Given the description of an element on the screen output the (x, y) to click on. 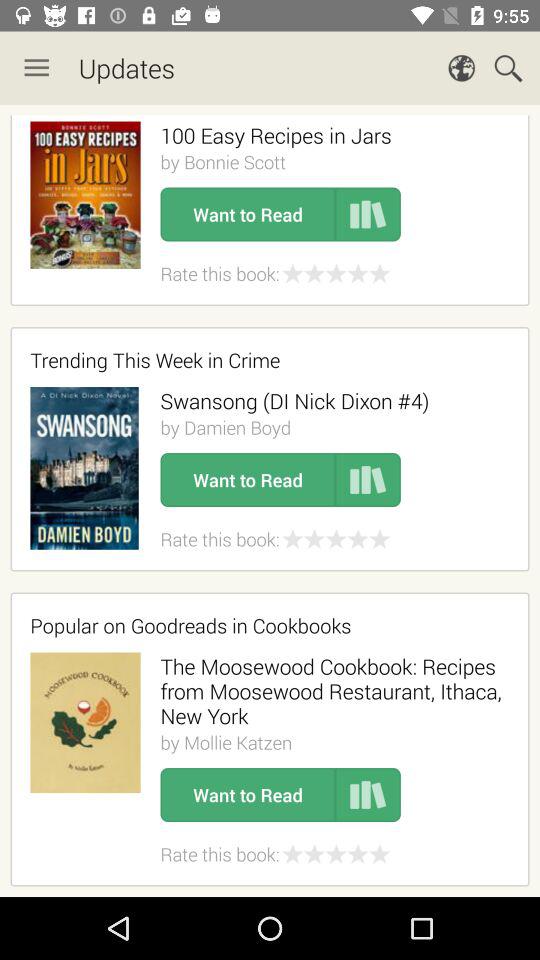
select all (270, 501)
